Given the description of an element on the screen output the (x, y) to click on. 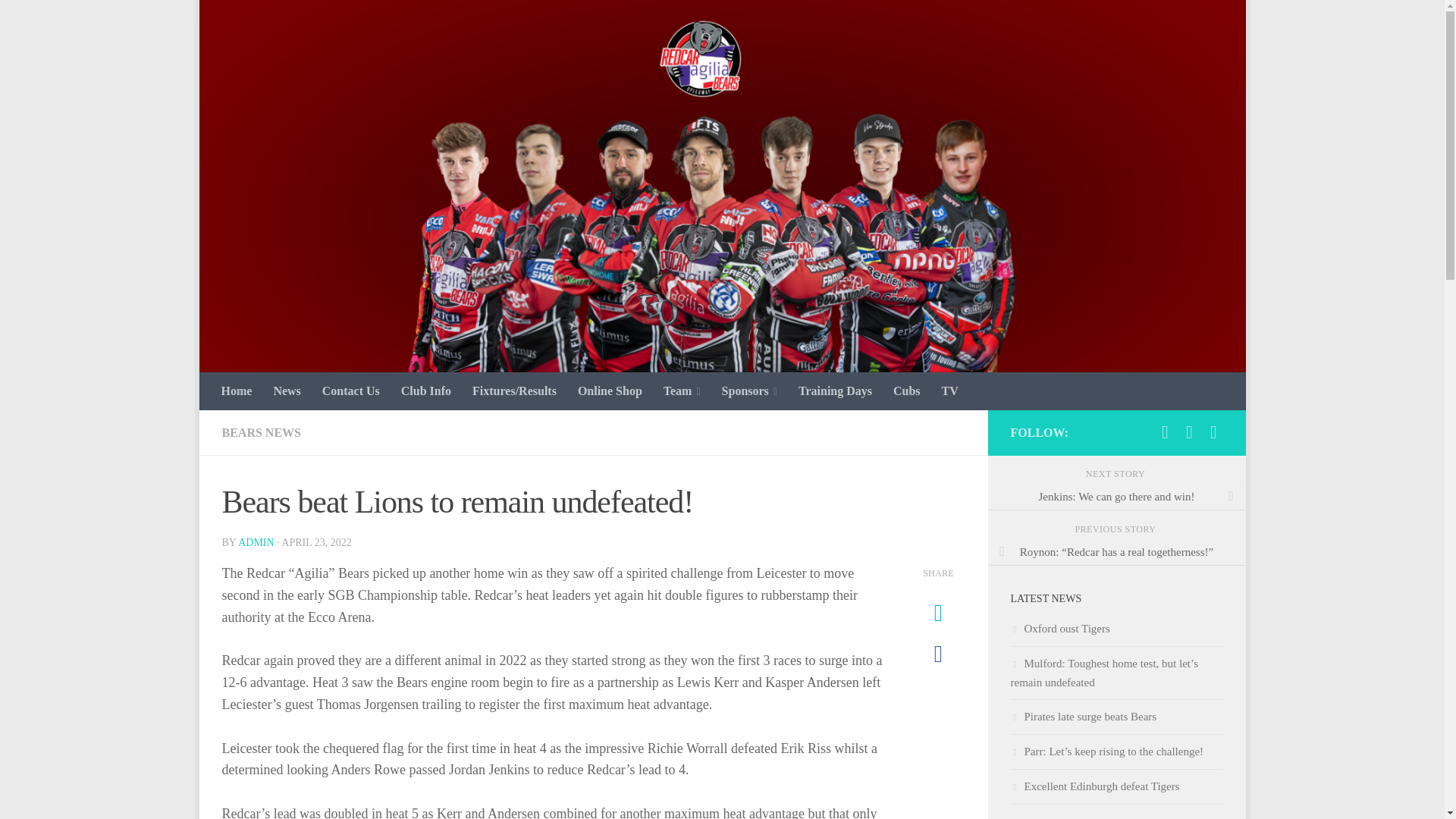
News (286, 391)
Posts by admin (255, 542)
BEARS NEWS (260, 431)
TV (950, 391)
Follow us on Youtube (1213, 432)
Online Shop (609, 391)
Follow us on Twitter (1188, 432)
Follow us on Facebook (1164, 432)
Skip to content (258, 20)
Contact Us (350, 391)
Team (681, 391)
Cubs (906, 391)
ADMIN (255, 542)
Sponsors (749, 391)
Home (237, 391)
